Given the description of an element on the screen output the (x, y) to click on. 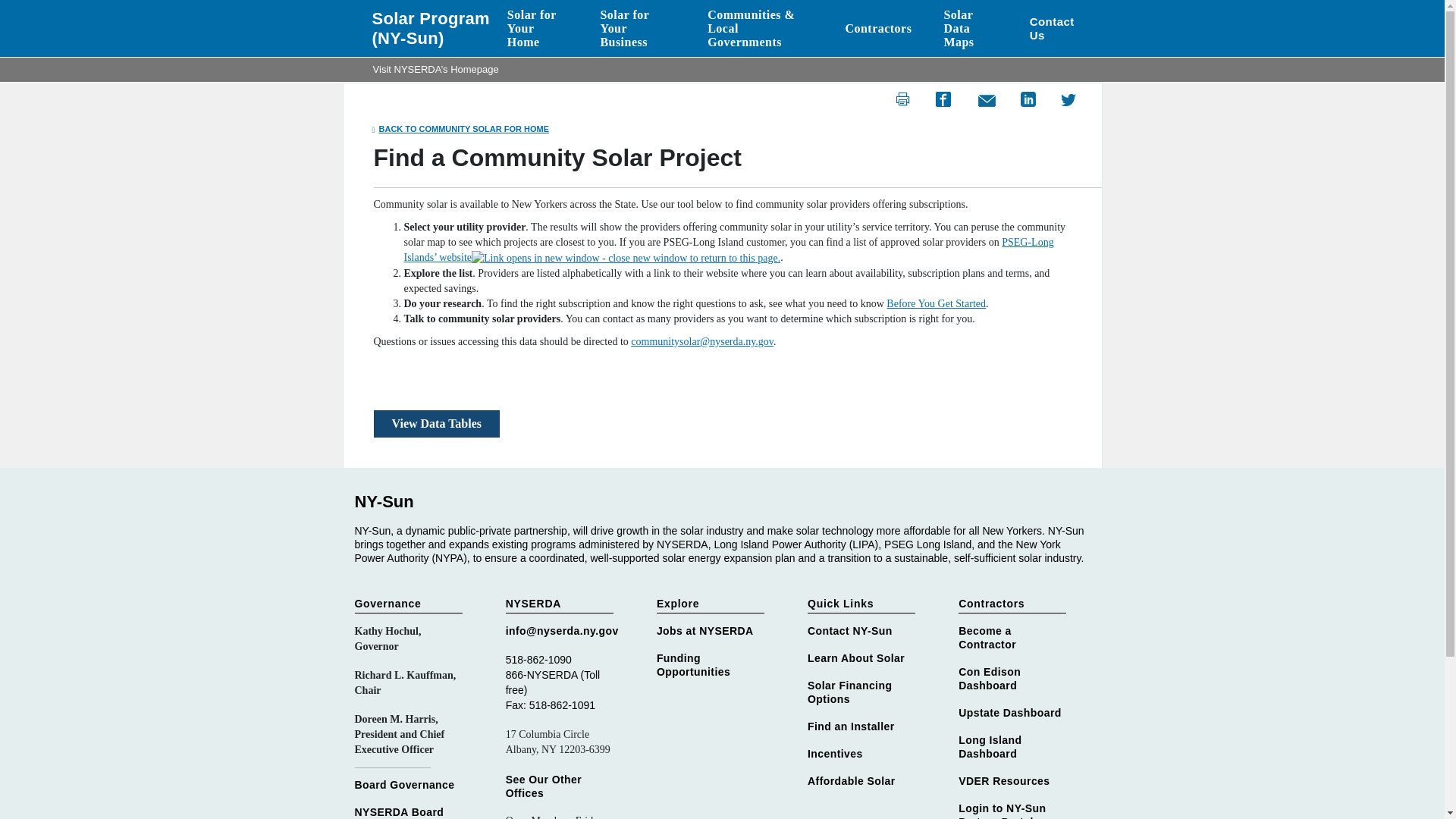
Contact Us (1060, 28)
Contractors (877, 28)
Link to NY-Sun Contractor Portal Opens in New WIndow (1013, 810)
